Given the description of an element on the screen output the (x, y) to click on. 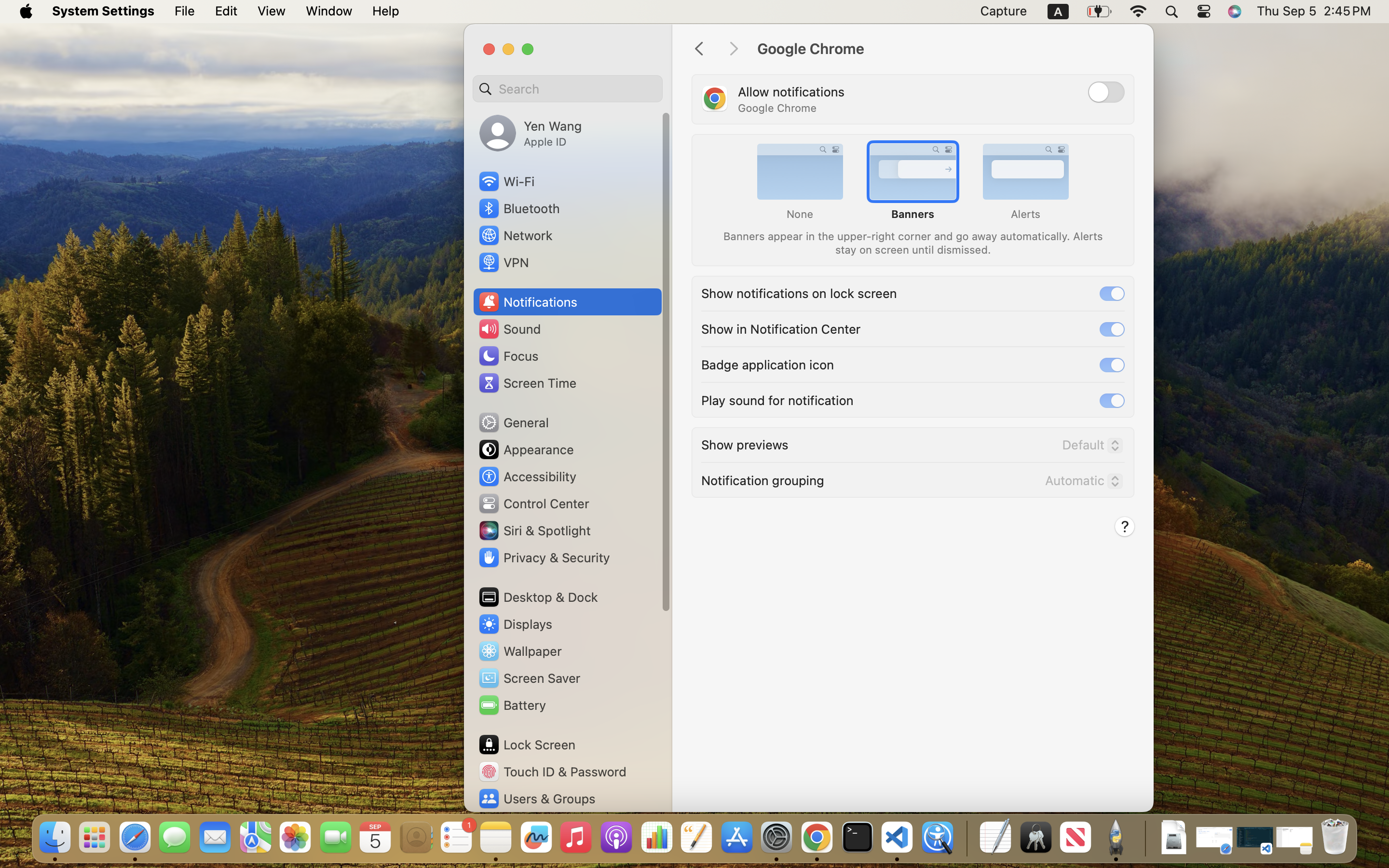
Wi‑Fi Element type: AXStaticText (505, 180)
Network Element type: AXStaticText (514, 234)
Screen Saver Element type: AXStaticText (528, 677)
1 Element type: AXCheckBox (1111, 293)
